Given the description of an element on the screen output the (x, y) to click on. 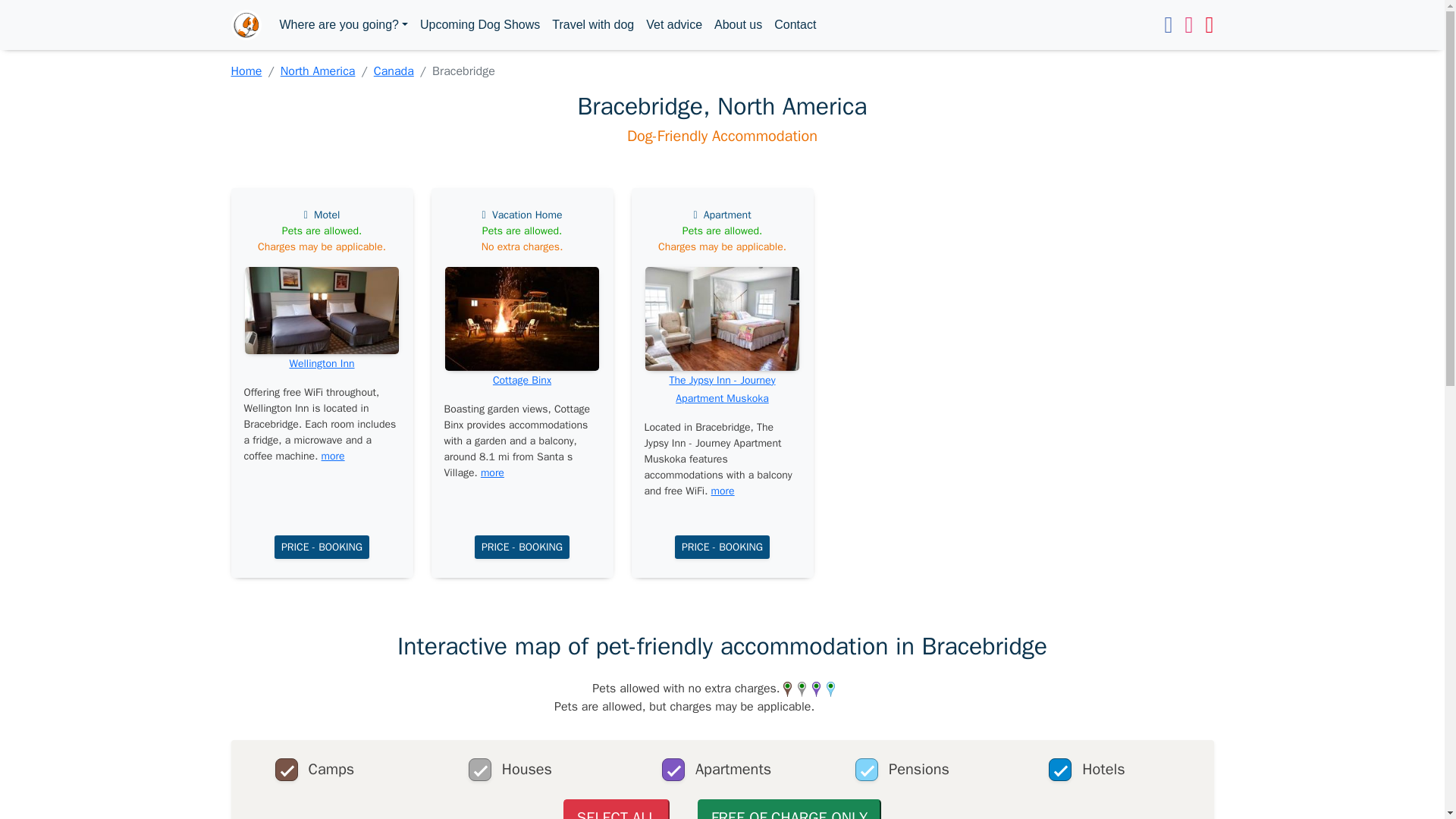
Cottage Binx (522, 379)
The Jypsy Inn - Journey Apartment Muskoka (721, 388)
PRICE - BOOKING (322, 546)
SELECT ALL (616, 809)
Contact (795, 24)
Vet advice (673, 24)
FREE OF CHARGE ONLY (788, 809)
Travel with dog (593, 24)
About us (737, 24)
Home (246, 70)
